Given the description of an element on the screen output the (x, y) to click on. 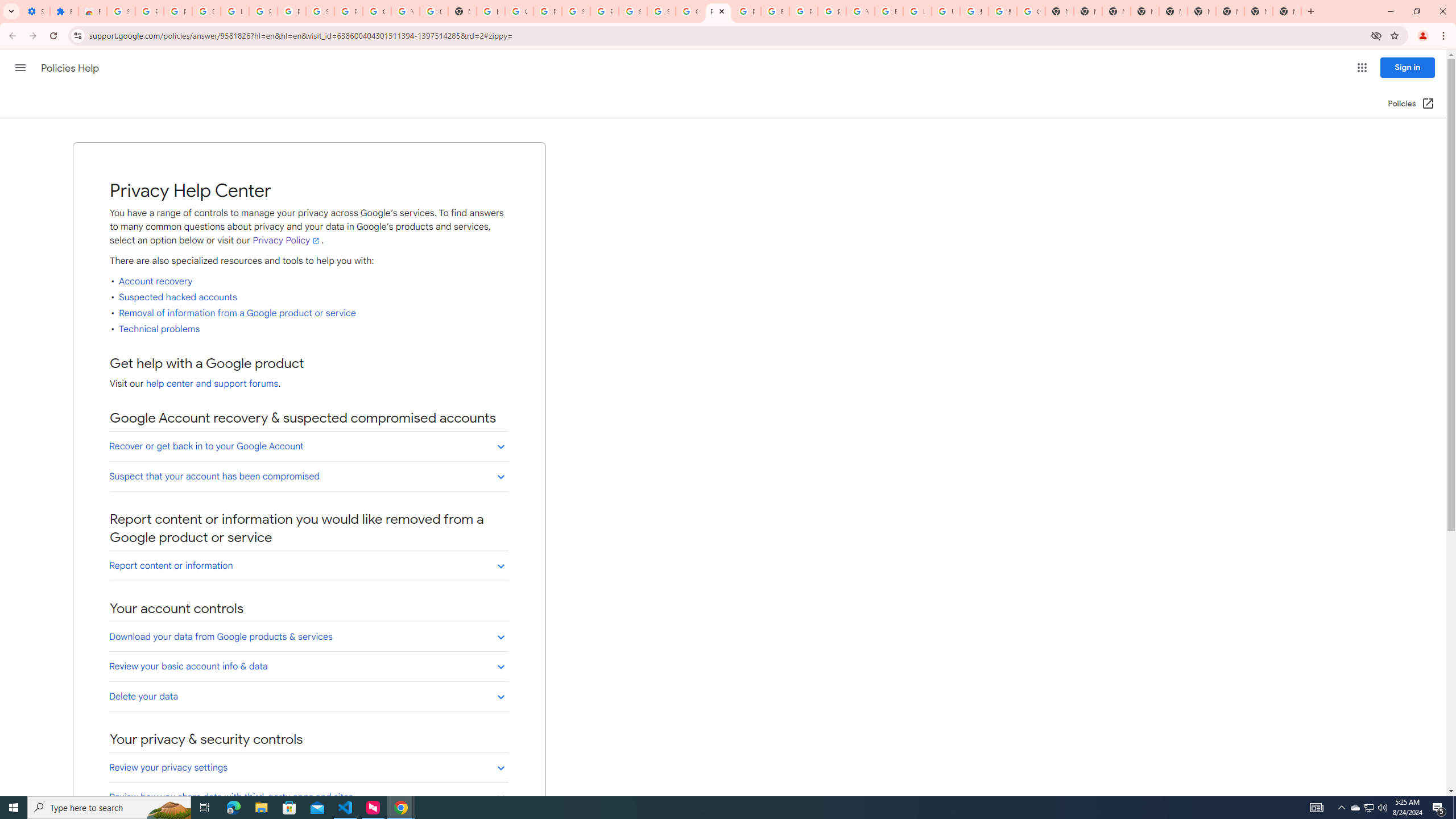
Review how you share data with third-party apps and sites (308, 797)
Review your privacy settings (308, 767)
help center and support forums (211, 383)
Settings - On startup (35, 11)
Report content or information (308, 565)
Account recovery (155, 281)
YouTube (860, 11)
Google Images (1030, 11)
Privacy Help Center - Policies Help (718, 11)
